Given the description of an element on the screen output the (x, y) to click on. 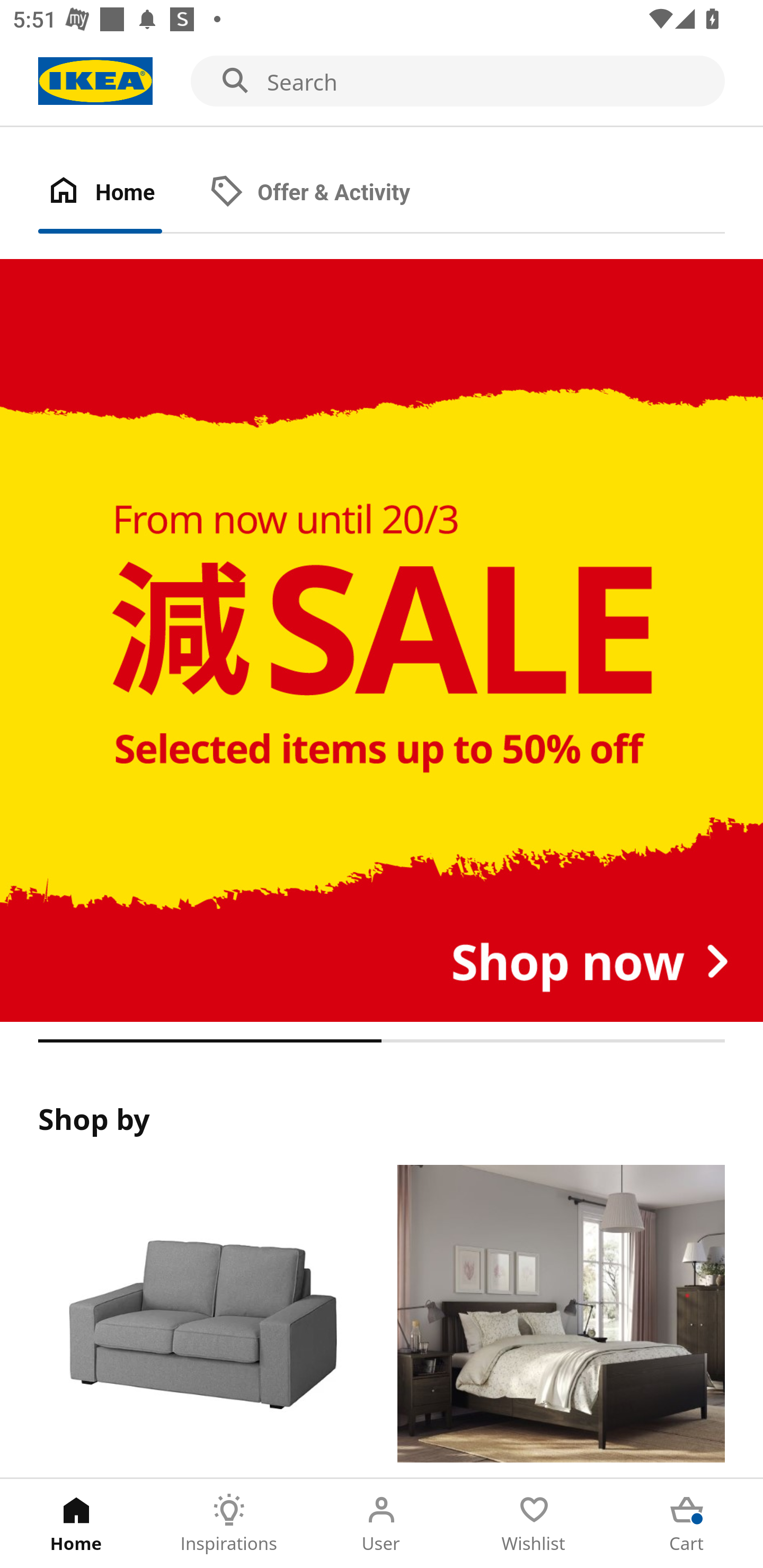
Search (381, 81)
Home
Tab 1 of 2 (118, 192)
Offer & Activity
Tab 2 of 2 (327, 192)
Products (201, 1321)
Rooms (560, 1321)
Home
Tab 1 of 5 (76, 1522)
Inspirations
Tab 2 of 5 (228, 1522)
User
Tab 3 of 5 (381, 1522)
Wishlist
Tab 4 of 5 (533, 1522)
Cart
Tab 5 of 5 (686, 1522)
